Given the description of an element on the screen output the (x, y) to click on. 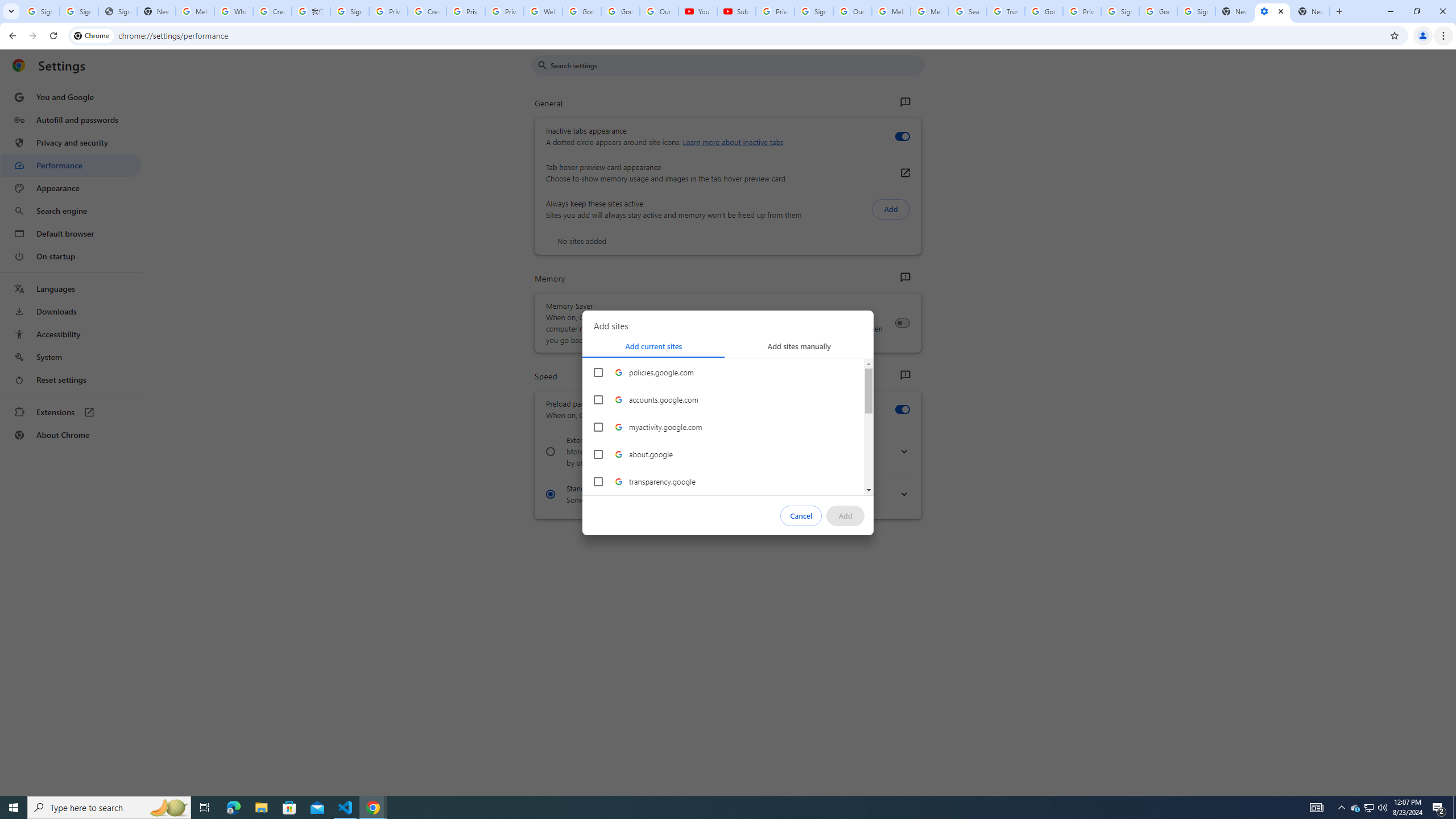
Sign in - Google Accounts (1196, 11)
Welcome to My Activity (542, 11)
New Tab (1311, 11)
Search our Doodle Library Collection - Google Doodles (967, 11)
Create your Google Account (427, 11)
Trusted Information and Content - Google Safety Center (1005, 11)
Cancel (801, 515)
